Given the description of an element on the screen output the (x, y) to click on. 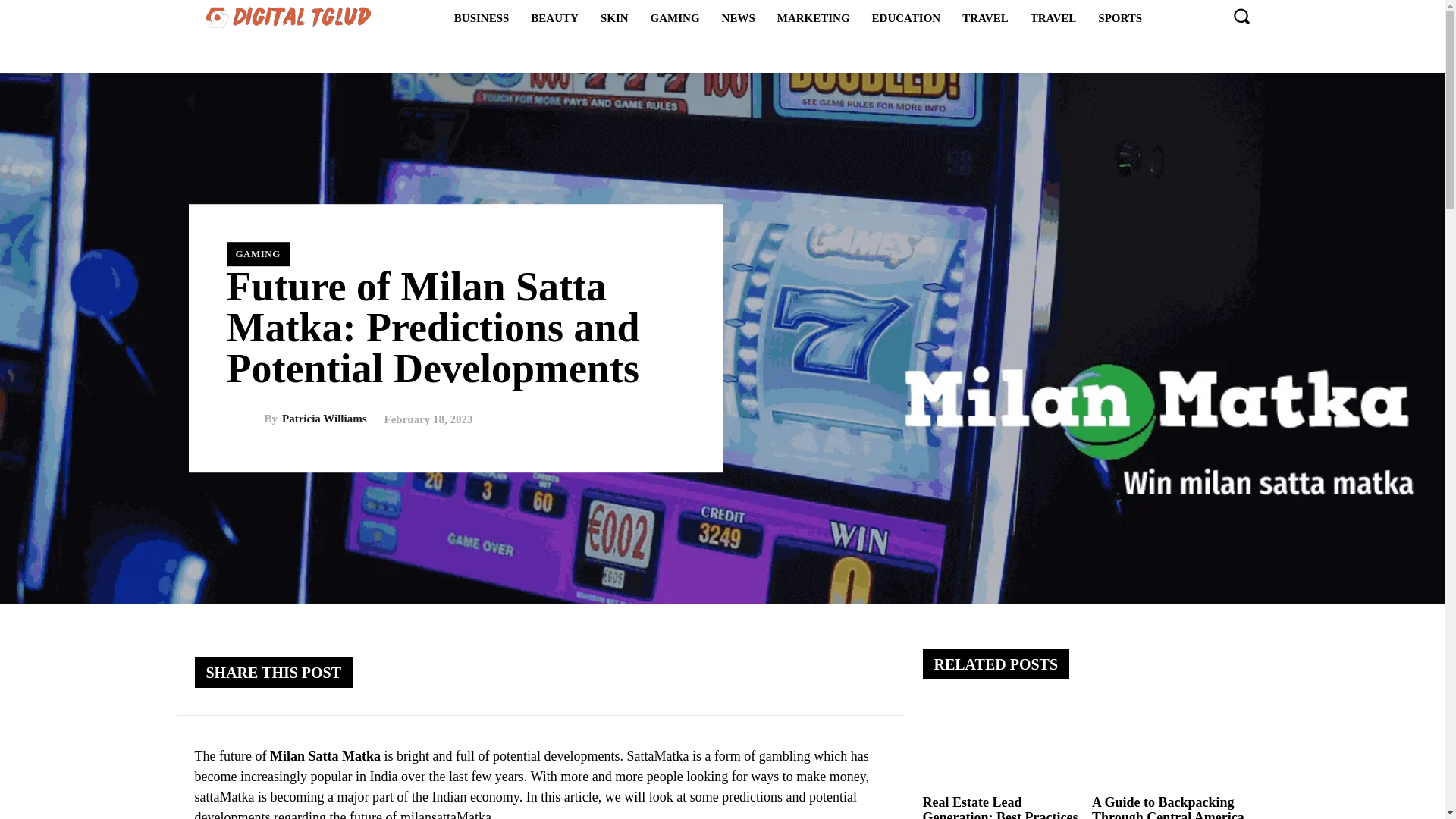
MARKETING (813, 17)
EDUCATION (906, 17)
A Guide to Backpacking Through Central America (1168, 806)
BUSINESS (481, 17)
Real Estate Lead Generation: Best Practices (999, 806)
TRAVEL (985, 17)
A Guide to Backpacking Through Central America (1170, 745)
NEWS (738, 17)
BEAUTY (554, 17)
GAMING (256, 253)
SKIN (614, 17)
SPORTS (1120, 17)
Patricia Williams (244, 419)
Real Estate Lead Generation: Best Practices (1000, 745)
GAMING (675, 17)
